Given the description of an element on the screen output the (x, y) to click on. 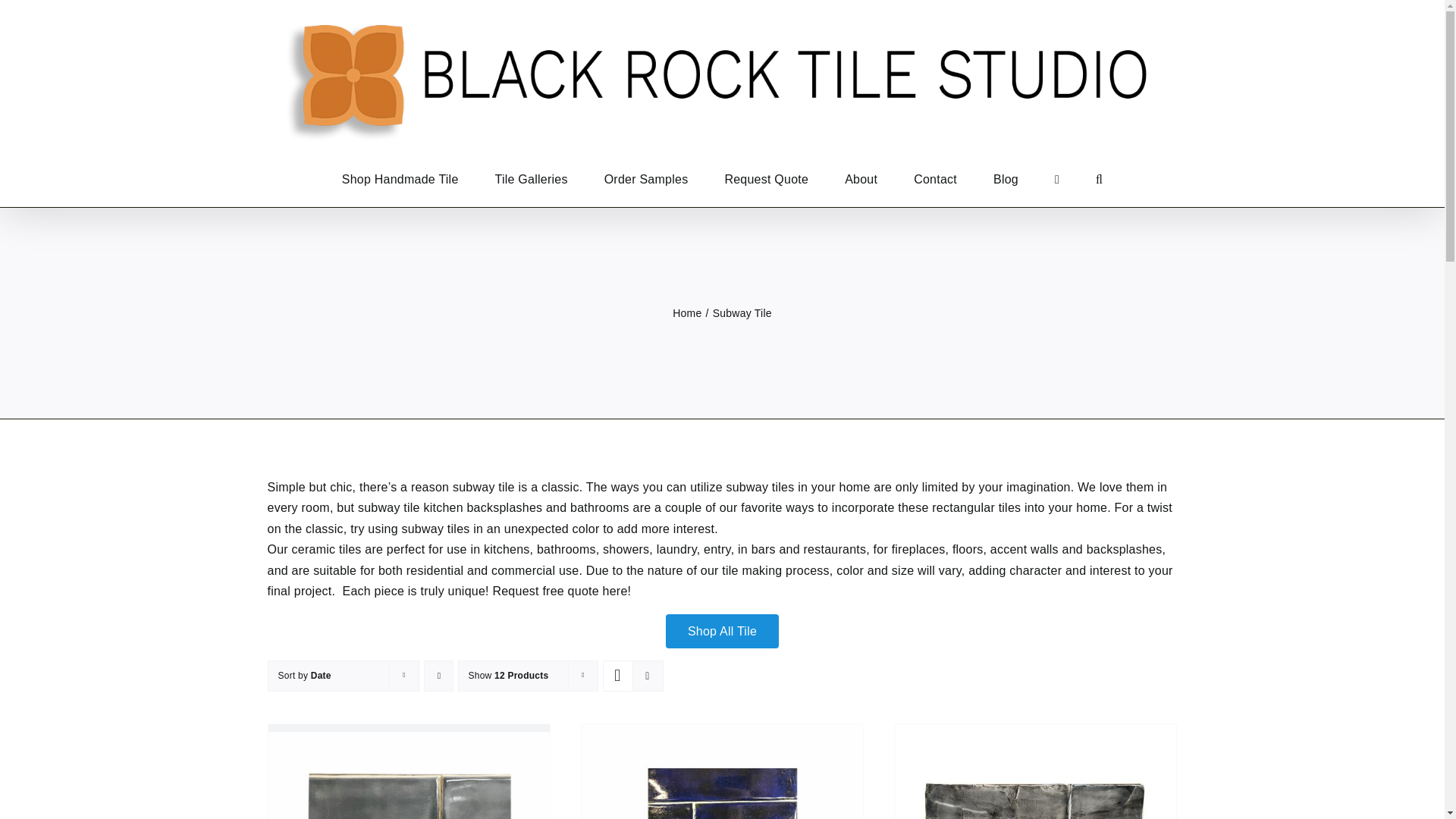
Request Quote (765, 178)
Shop Handmade Tile (400, 178)
Tile Galleries (531, 178)
Shop Handmade Tile (400, 178)
Order Tile Samples (646, 178)
Order Samples (646, 178)
